Given the description of an element on the screen output the (x, y) to click on. 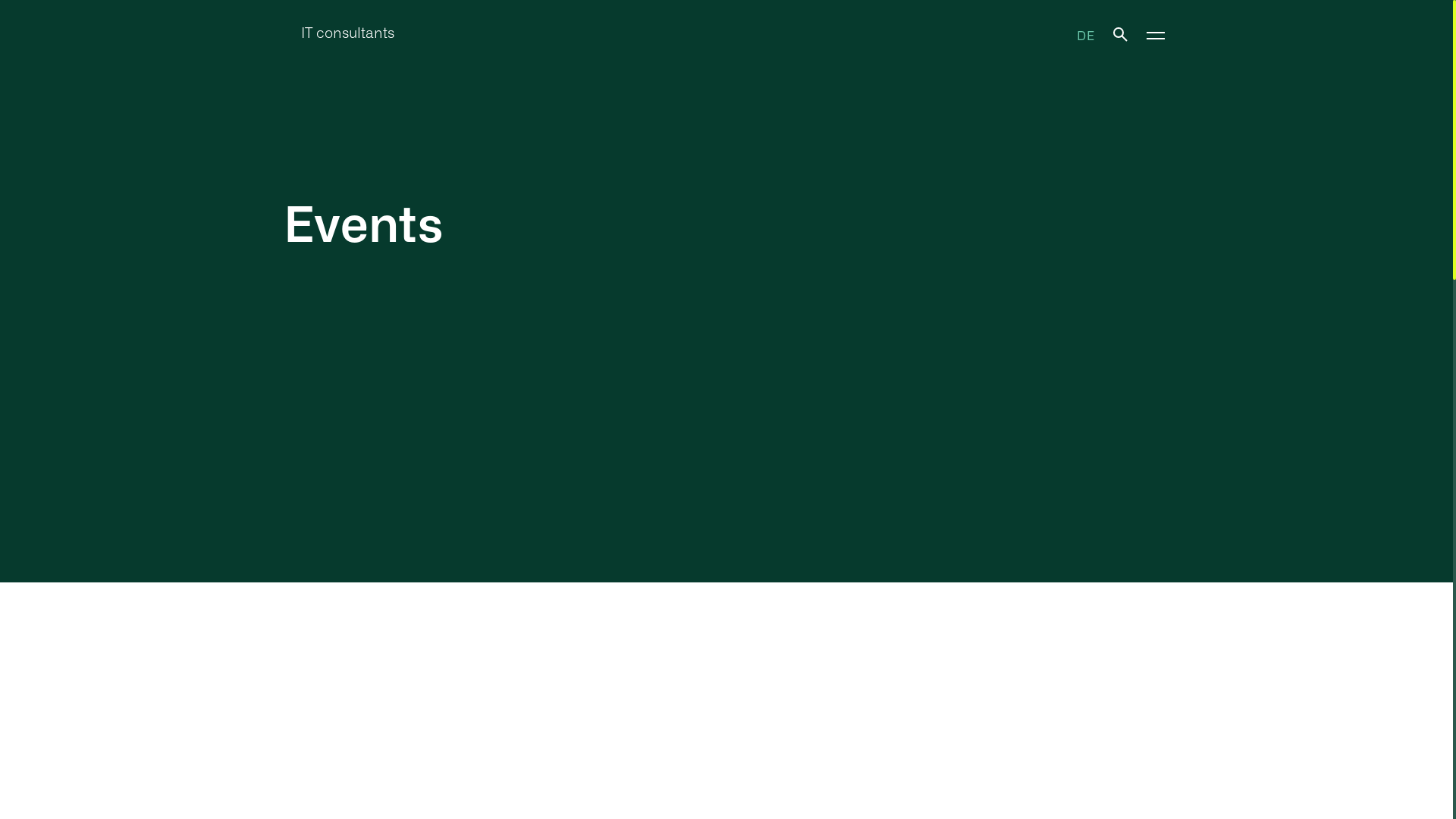
DE Element type: text (1085, 34)
